Given the description of an element on the screen output the (x, y) to click on. 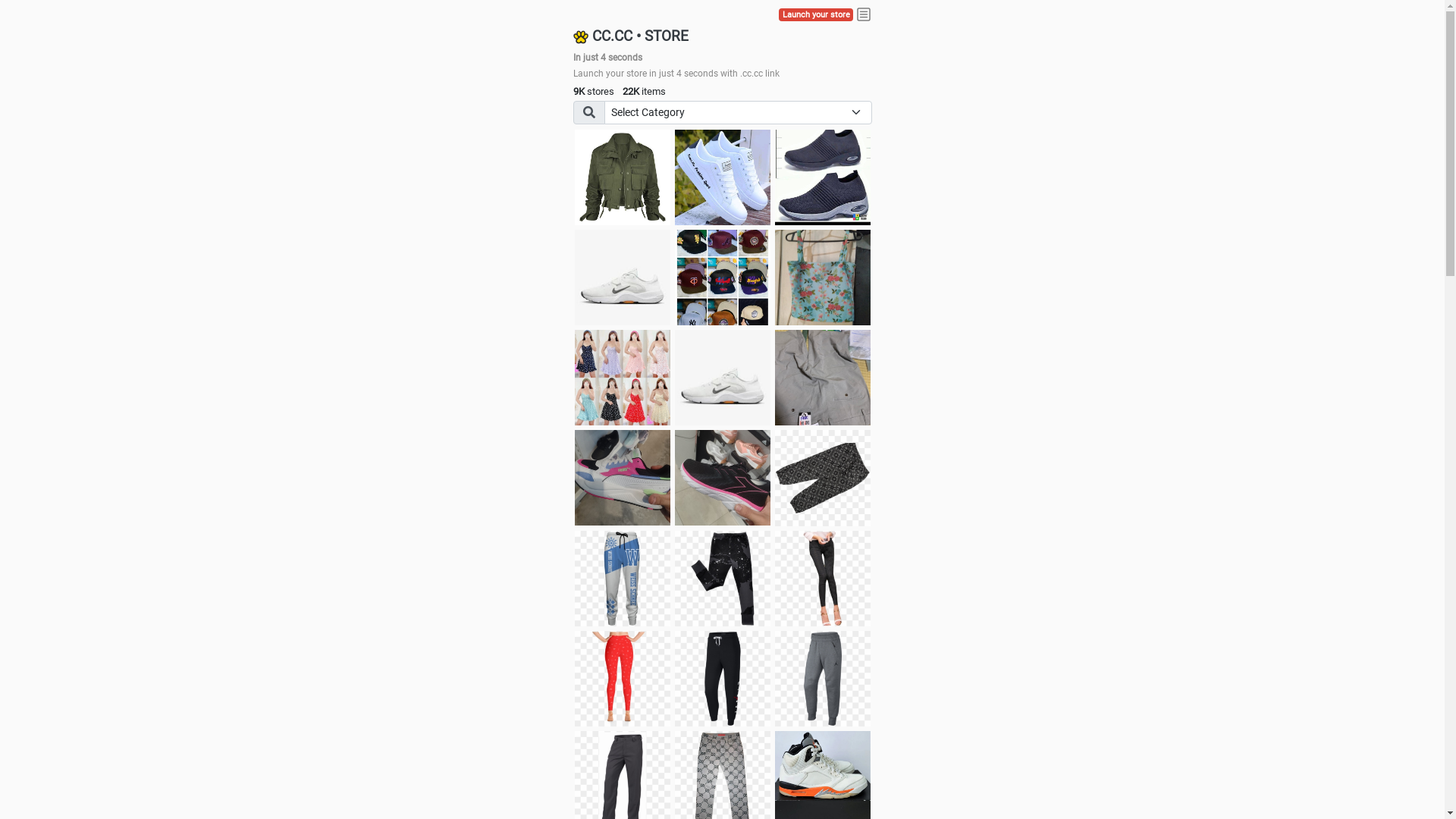
Pant Element type: hover (822, 678)
Things we need Element type: hover (722, 277)
Pant Element type: hover (622, 678)
Pant Element type: hover (722, 678)
Pant Element type: hover (722, 578)
Zapatillas pumas Element type: hover (622, 477)
jacket Element type: hover (622, 177)
Pant Element type: hover (622, 578)
Dress/square nect top Element type: hover (622, 377)
Launch your store Element type: text (815, 14)
Zapatillas Element type: hover (722, 477)
Pant Element type: hover (822, 578)
Shoes Element type: hover (722, 377)
Shoes for boys Element type: hover (622, 277)
Short pant Element type: hover (822, 477)
shoes for boys Element type: hover (822, 177)
white shoes Element type: hover (722, 177)
Ukay cloth Element type: hover (822, 277)
